Given the description of an element on the screen output the (x, y) to click on. 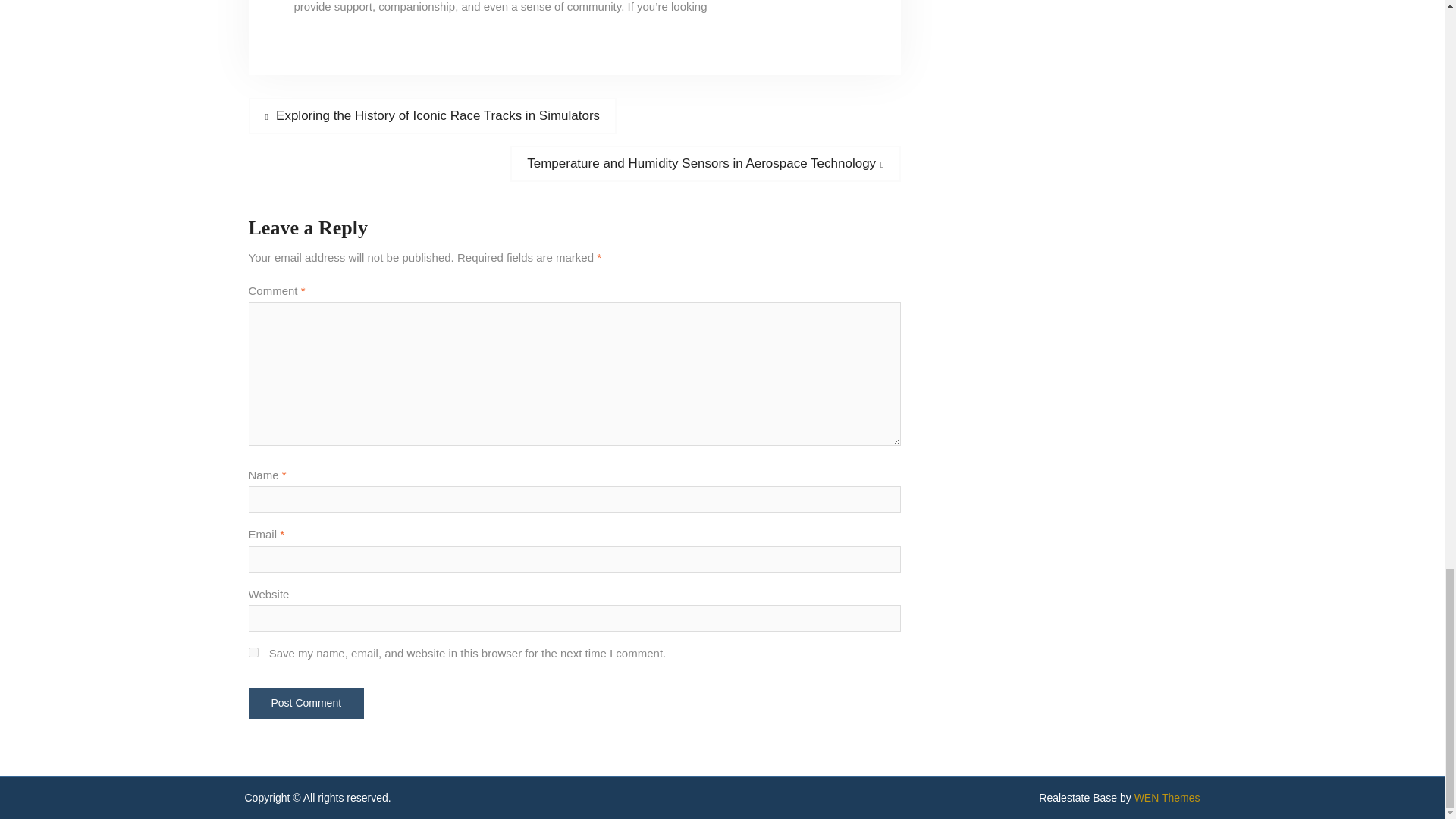
yes (253, 652)
Post Comment (306, 703)
WEN Themes (1166, 797)
Post Comment (306, 703)
